Given the description of an element on the screen output the (x, y) to click on. 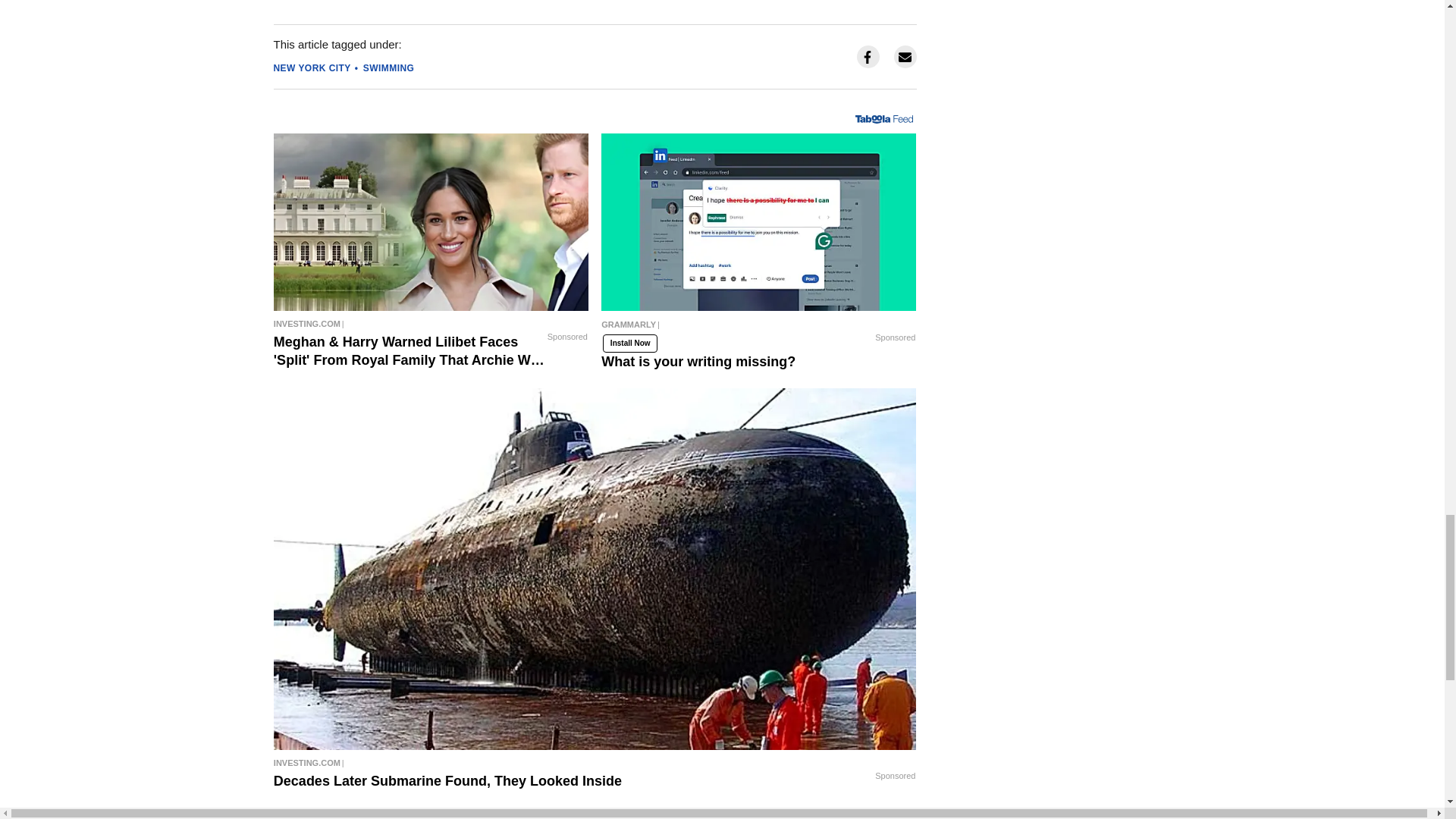
What is your writing missing? (758, 222)
Play War Thunder now for free (430, 813)
What is your writing missing? (758, 328)
Decades Later Submarine Found, They Looked Inside (595, 762)
